Given the description of an element on the screen output the (x, y) to click on. 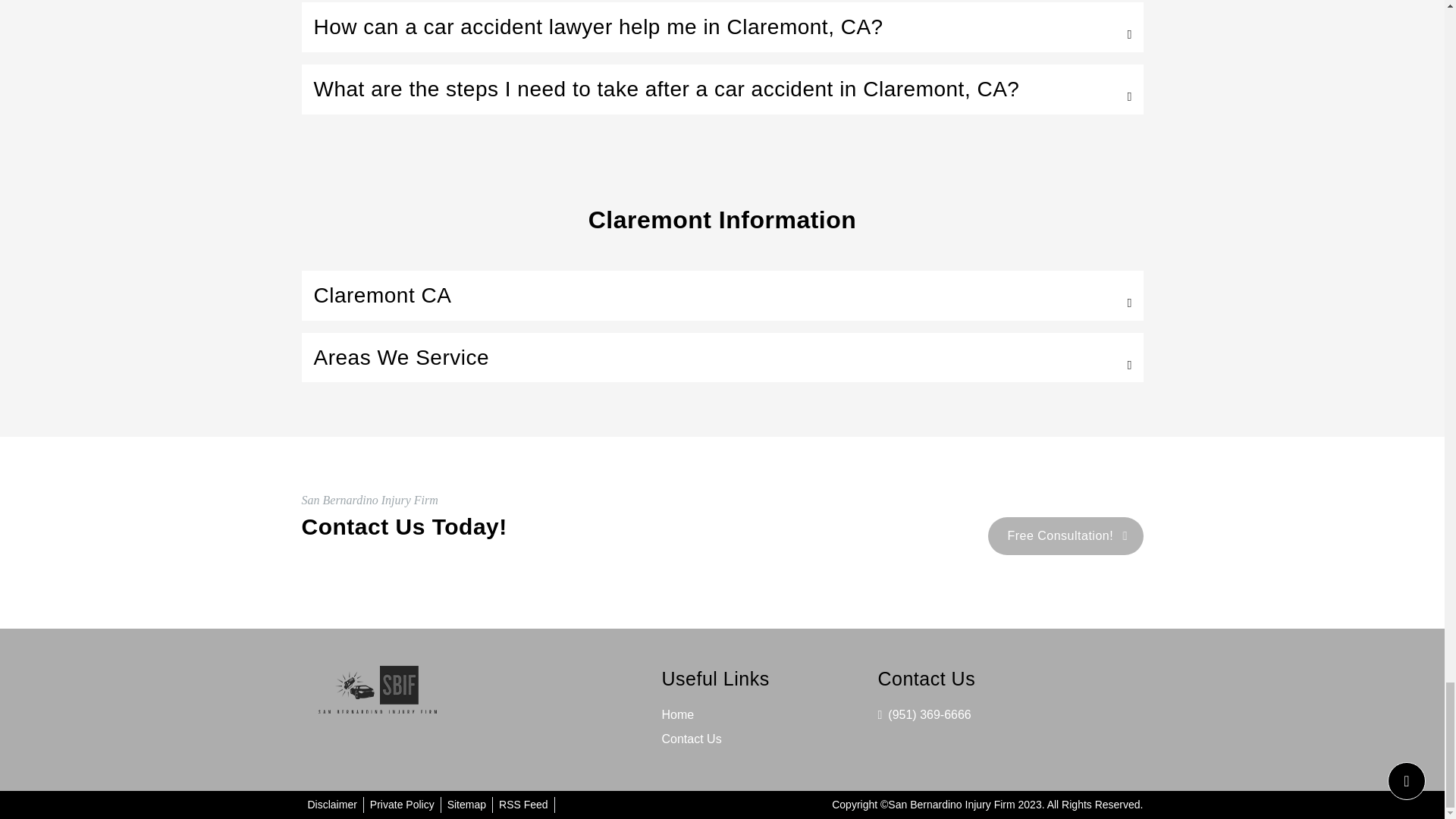
Free Consultation! (1065, 535)
Private Policy (401, 804)
Areas We Service (722, 357)
RSS Feed (523, 804)
Claremont CA (722, 295)
How can a car accident lawyer help me in Claremont, CA? (722, 27)
Sitemap (466, 804)
Home (677, 714)
Contact Us (690, 738)
Disclaimer (331, 804)
